Given the description of an element on the screen output the (x, y) to click on. 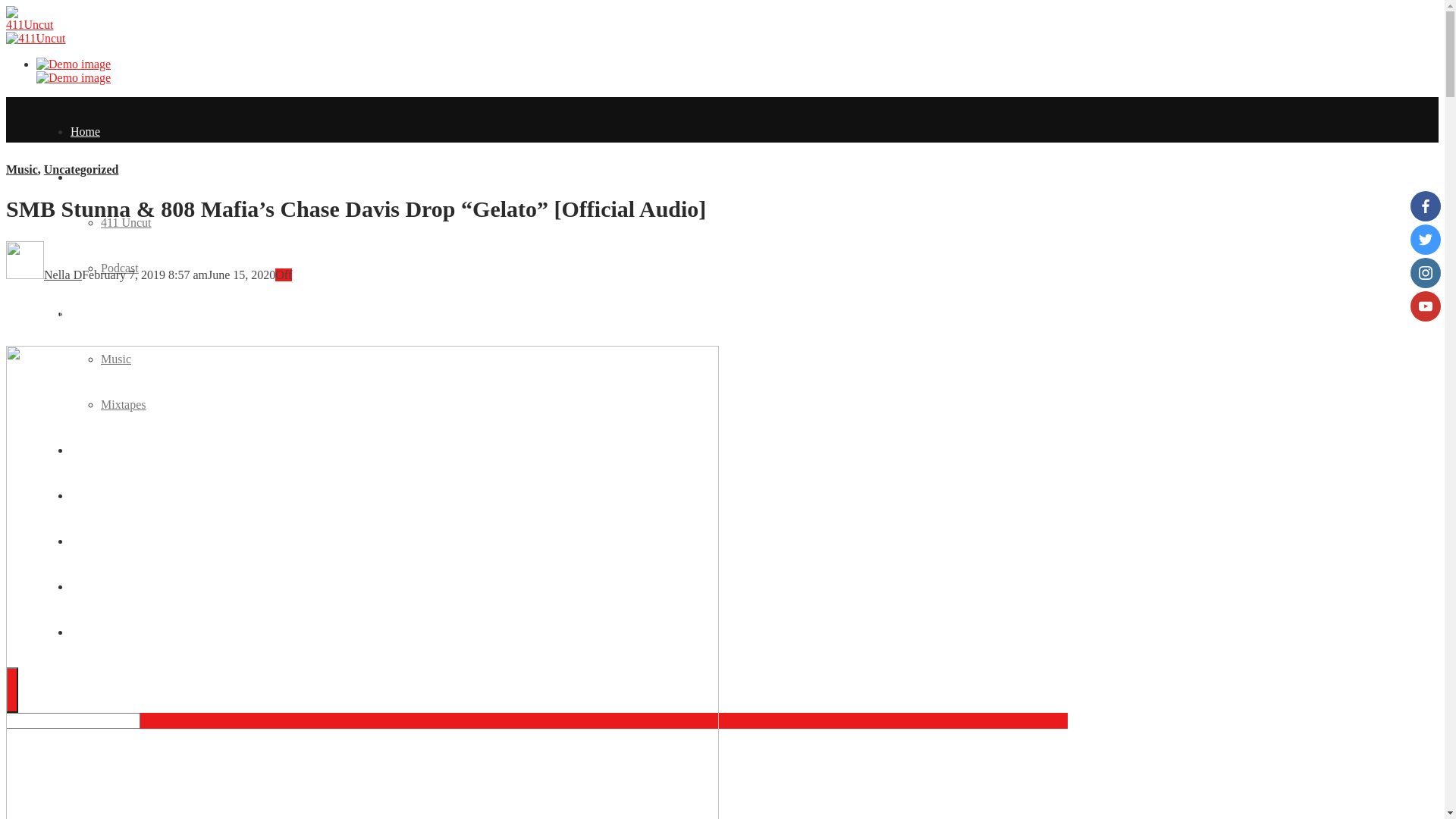
Mixtapes Element type: text (123, 404)
Twitter Element type: text (168, 313)
Podcast Element type: text (119, 267)
Home Element type: text (85, 131)
Nella D Element type: text (62, 274)
Share This Post Element type: text (65, 313)
Music Submission Element type: text (115, 586)
Videos Element type: text (86, 449)
411 Uncut Element type: text (125, 222)
Music Element type: text (115, 358)
Audio Element type: text (85, 313)
411 Uncut Element type: text (95, 176)
Artists Element type: text (86, 495)
Music Element type: text (21, 169)
Contact Us Element type: text (97, 631)
Uncategorized Element type: text (81, 169)
About Us Element type: text (93, 540)
